Given the description of an element on the screen output the (x, y) to click on. 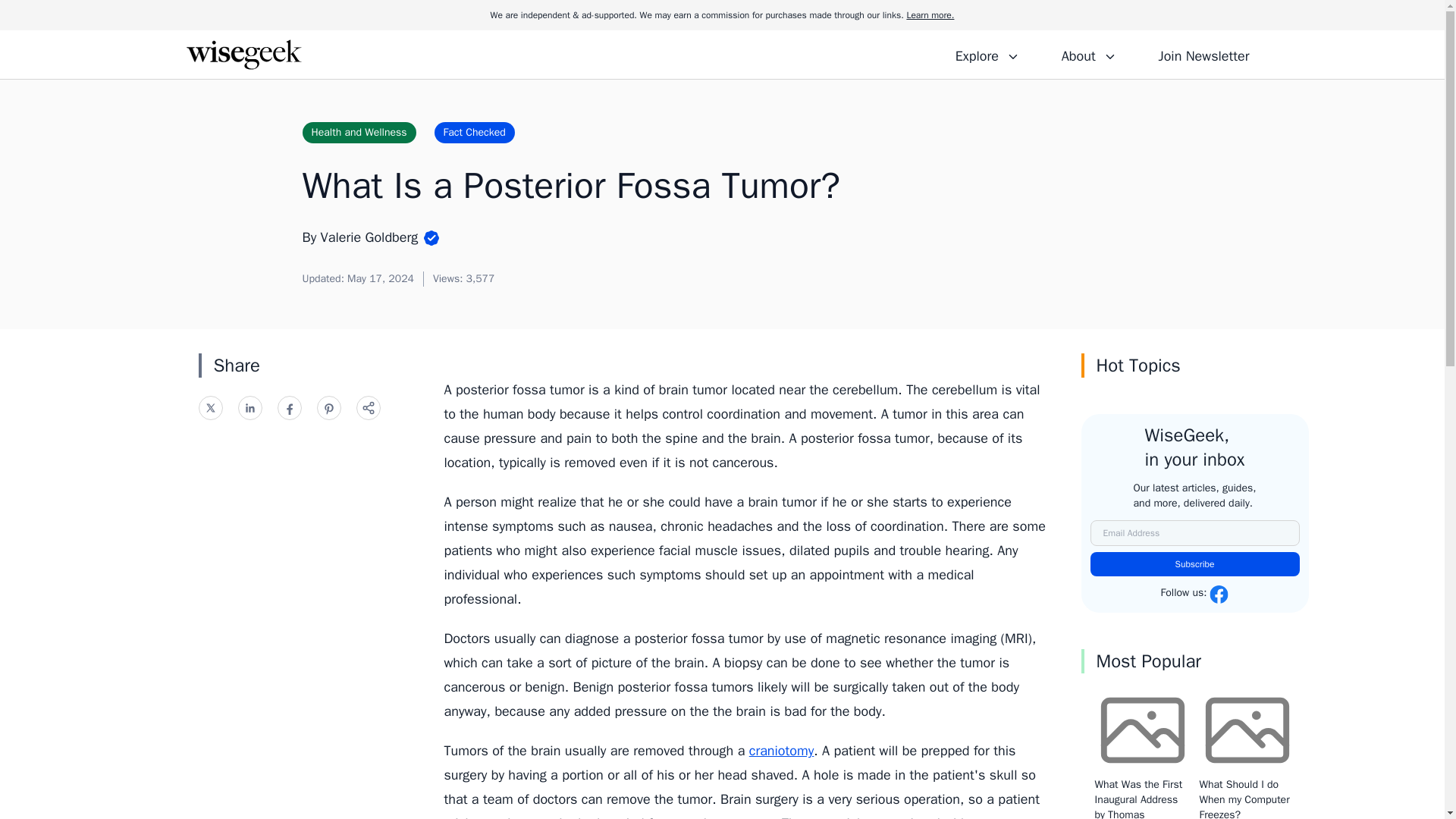
craniotomy (781, 750)
Explore (986, 54)
Health and Wellness (357, 132)
About (1088, 54)
Fact Checked (474, 132)
Learn more. (929, 15)
Join Newsletter (1202, 54)
